Given the description of an element on the screen output the (x, y) to click on. 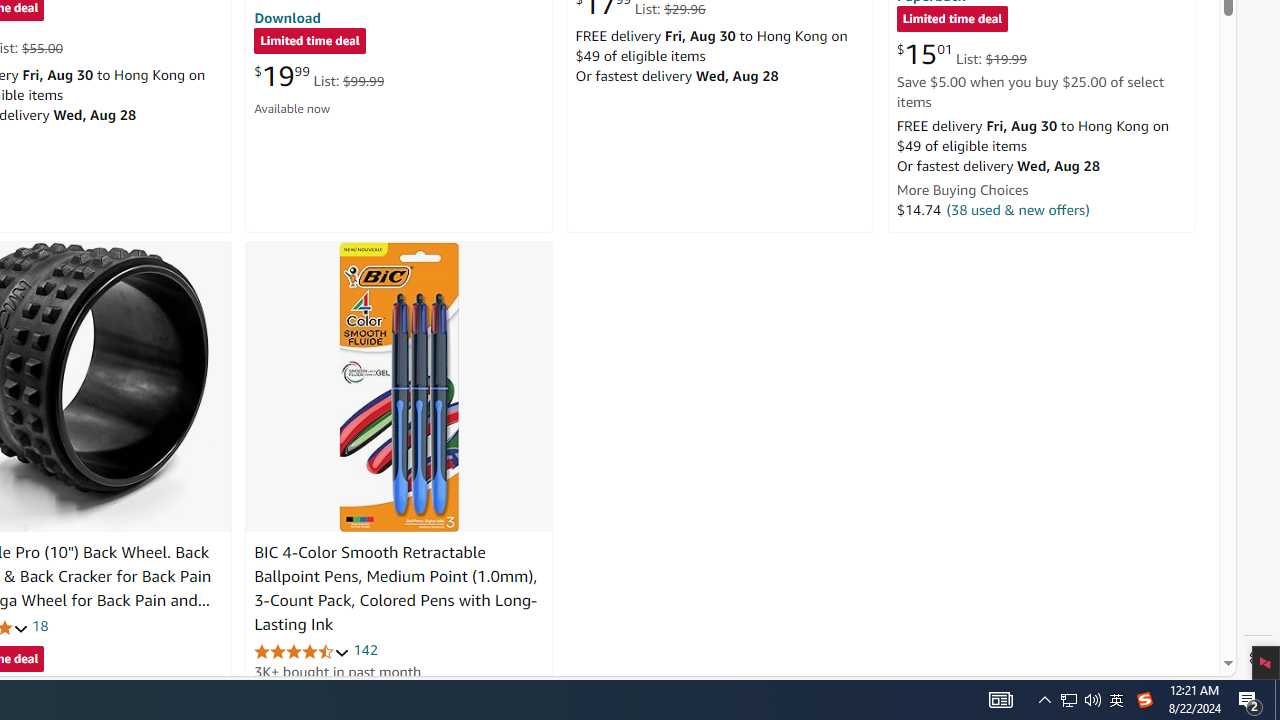
4.6 out of 5 stars (301, 650)
18 (40, 625)
Limited time deal (952, 20)
(38 used & new offers) (1017, 209)
$15.01 List: $19.99 (961, 54)
142 (365, 650)
$19.99 List: $99.99 (319, 76)
Download (287, 17)
